Given the description of an element on the screen output the (x, y) to click on. 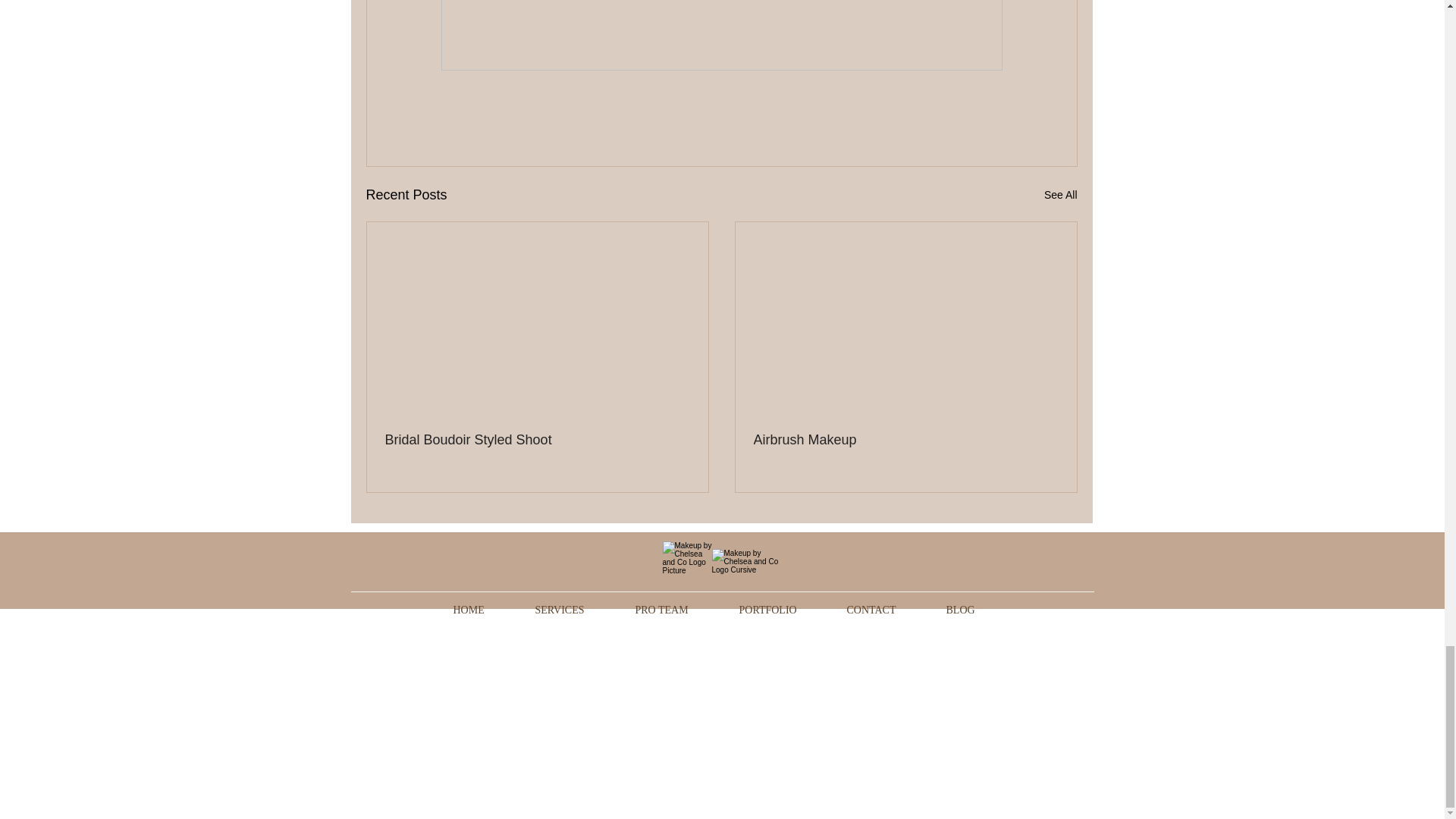
SERVICES (577, 607)
HOME (486, 607)
See All (1060, 195)
PRO TEAM (679, 607)
Bridal Boudoir Styled Shoot (537, 439)
Airbrush Makeup (906, 439)
